Given the description of an element on the screen output the (x, y) to click on. 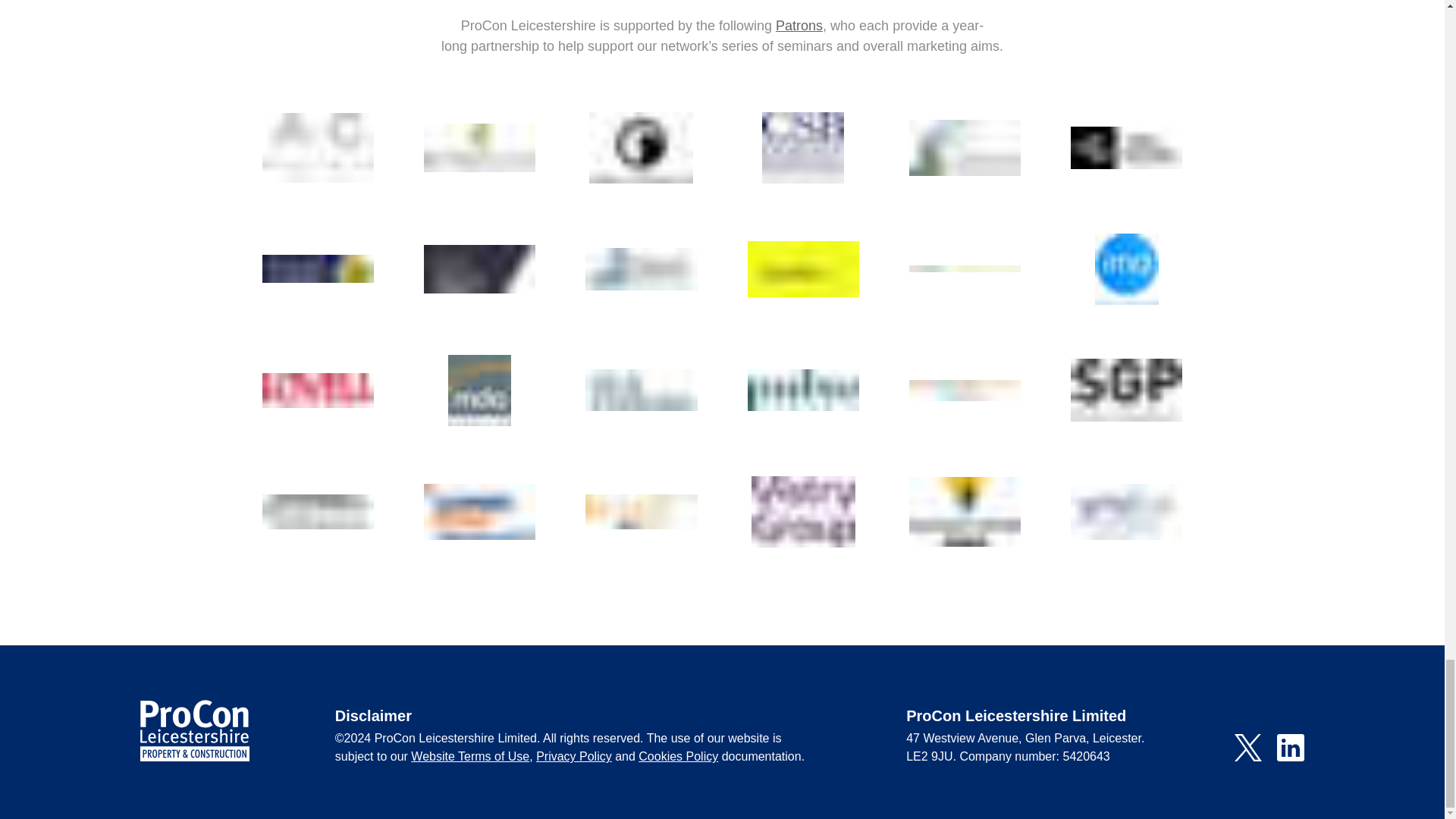
Patrons (799, 25)
